Given the description of an element on the screen output the (x, y) to click on. 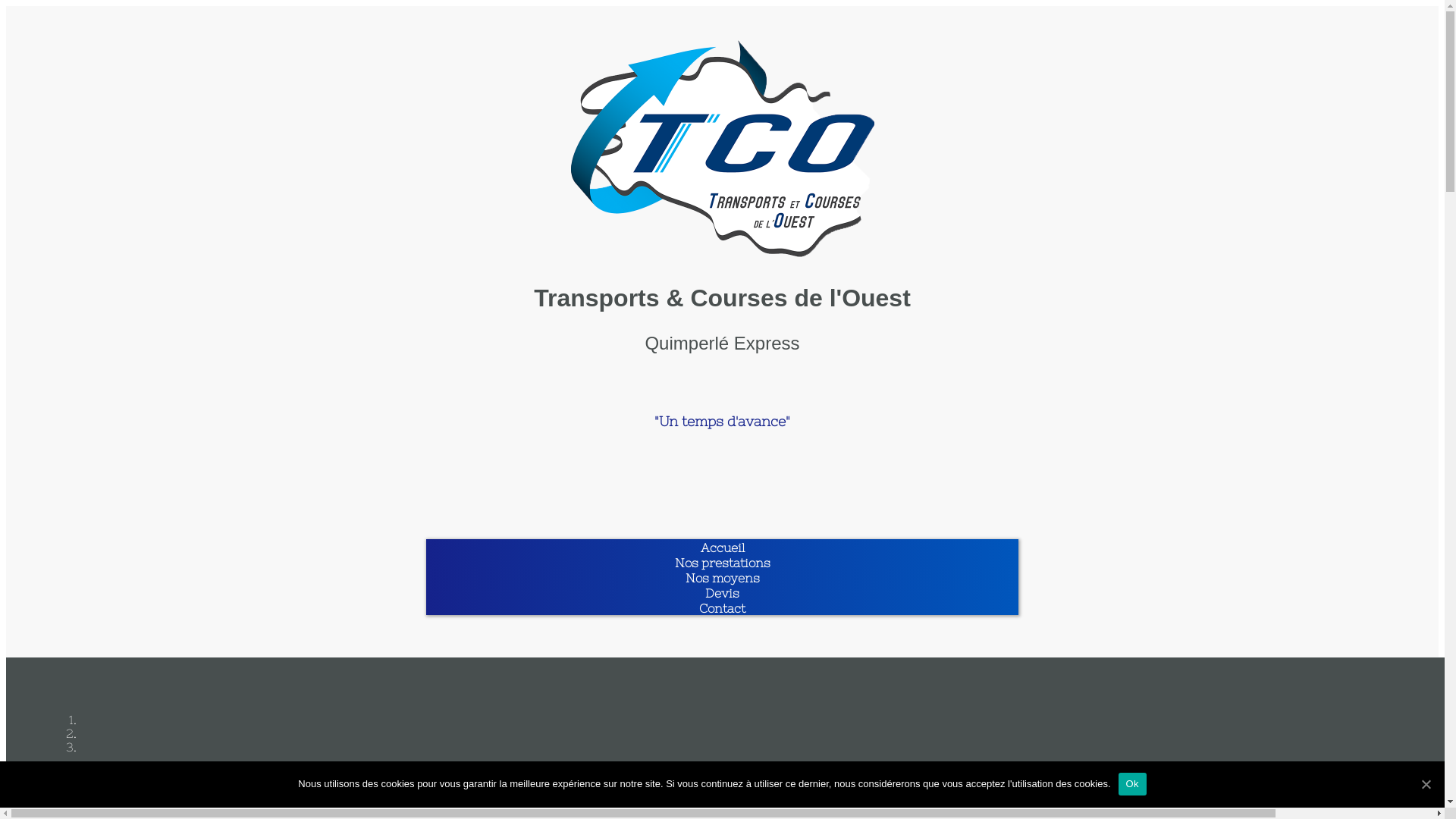
Accueil
(current) Element type: text (722, 547)
Contact Element type: text (722, 608)
Nos moyens Element type: text (722, 577)
Ok Element type: text (1132, 782)
Devis Element type: text (722, 592)
Nos prestations Element type: text (722, 562)
